Given the description of an element on the screen output the (x, y) to click on. 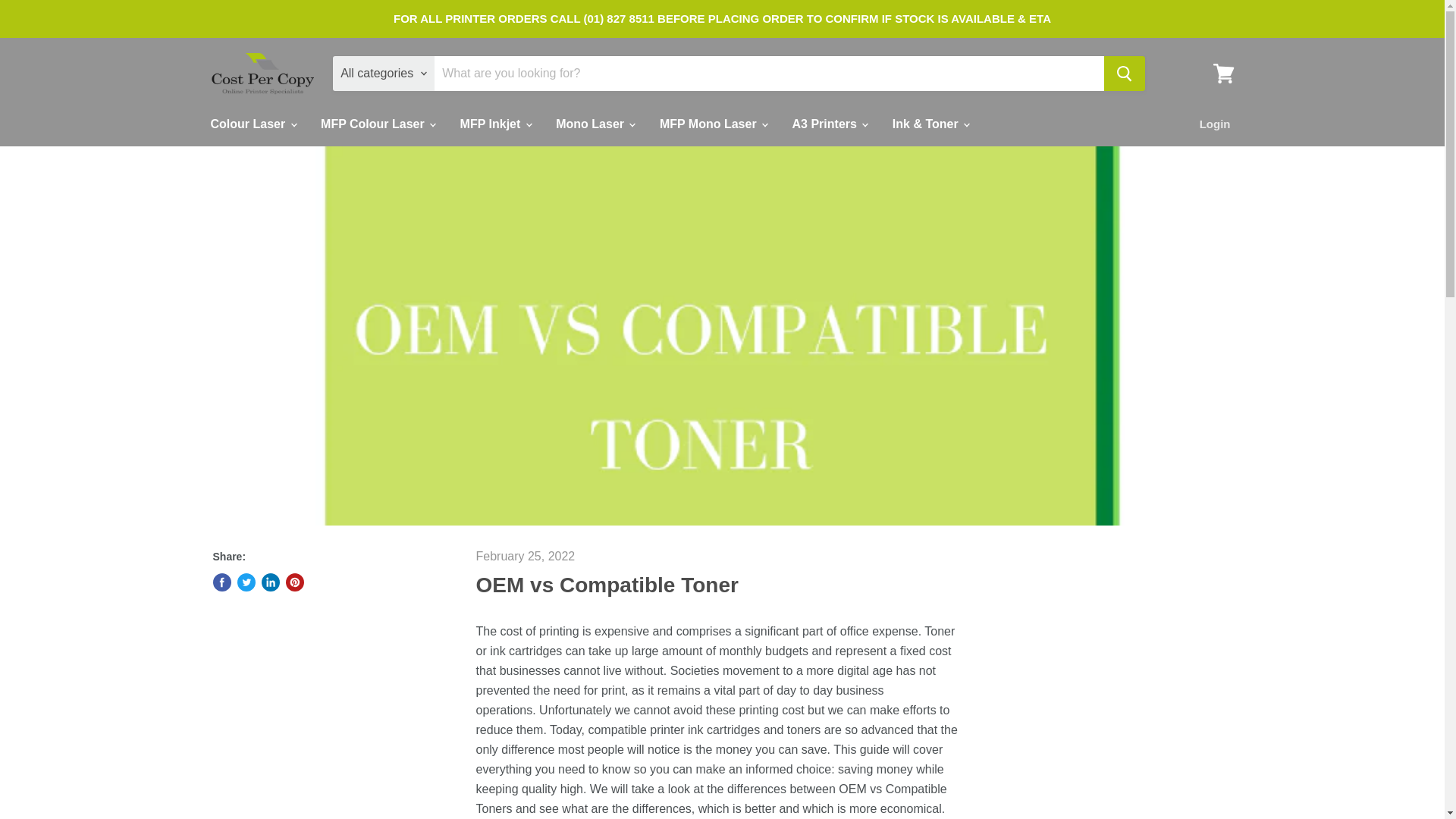
MFP Inkjet (494, 124)
Mono Laser (594, 124)
View cart (1223, 73)
MFP Mono Laser (712, 124)
MFP Colour Laser (376, 124)
Colour Laser (251, 124)
